Given the description of an element on the screen output the (x, y) to click on. 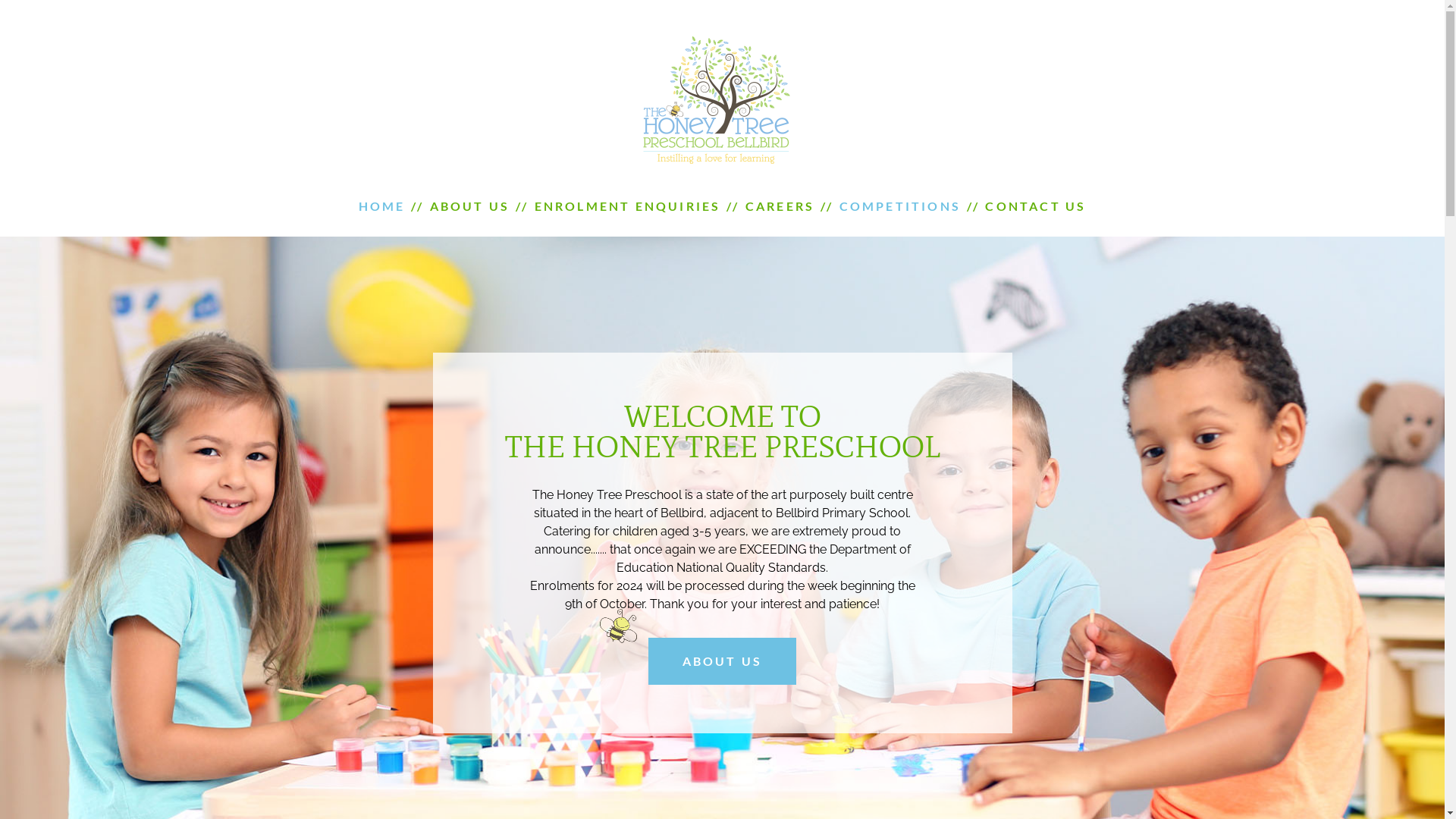
ABOUT US Element type: text (469, 206)
COMPETITIONS Element type: text (899, 206)
CAREERS Element type: text (779, 206)
CONTACT US Element type: text (1035, 206)
HOME Element type: text (380, 206)
ENROLMENT ENQUIRIES Element type: text (627, 206)
ABOUT US Element type: text (722, 660)
